Given the description of an element on the screen output the (x, y) to click on. 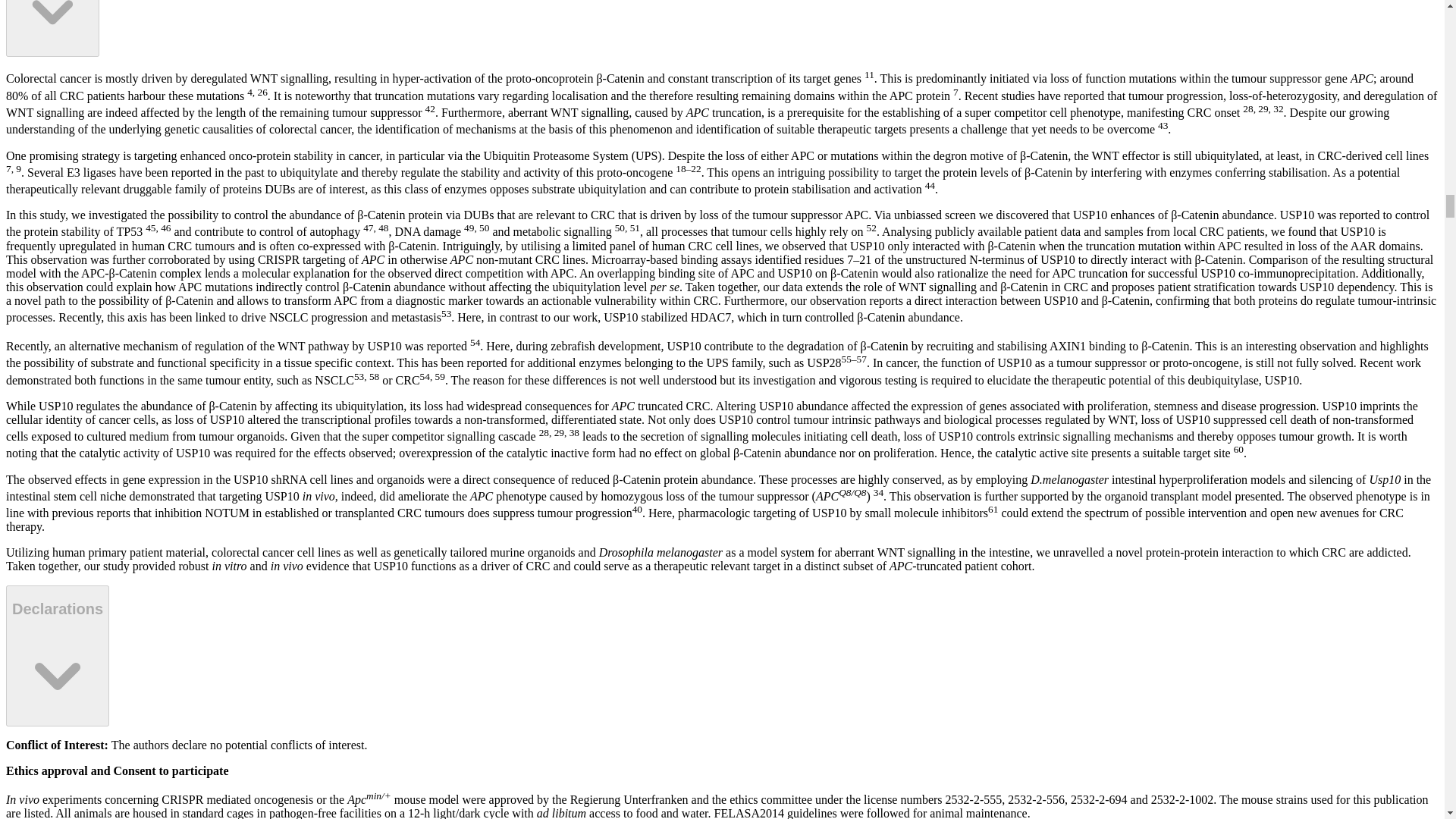
Discussion (52, 28)
